Given the description of an element on the screen output the (x, y) to click on. 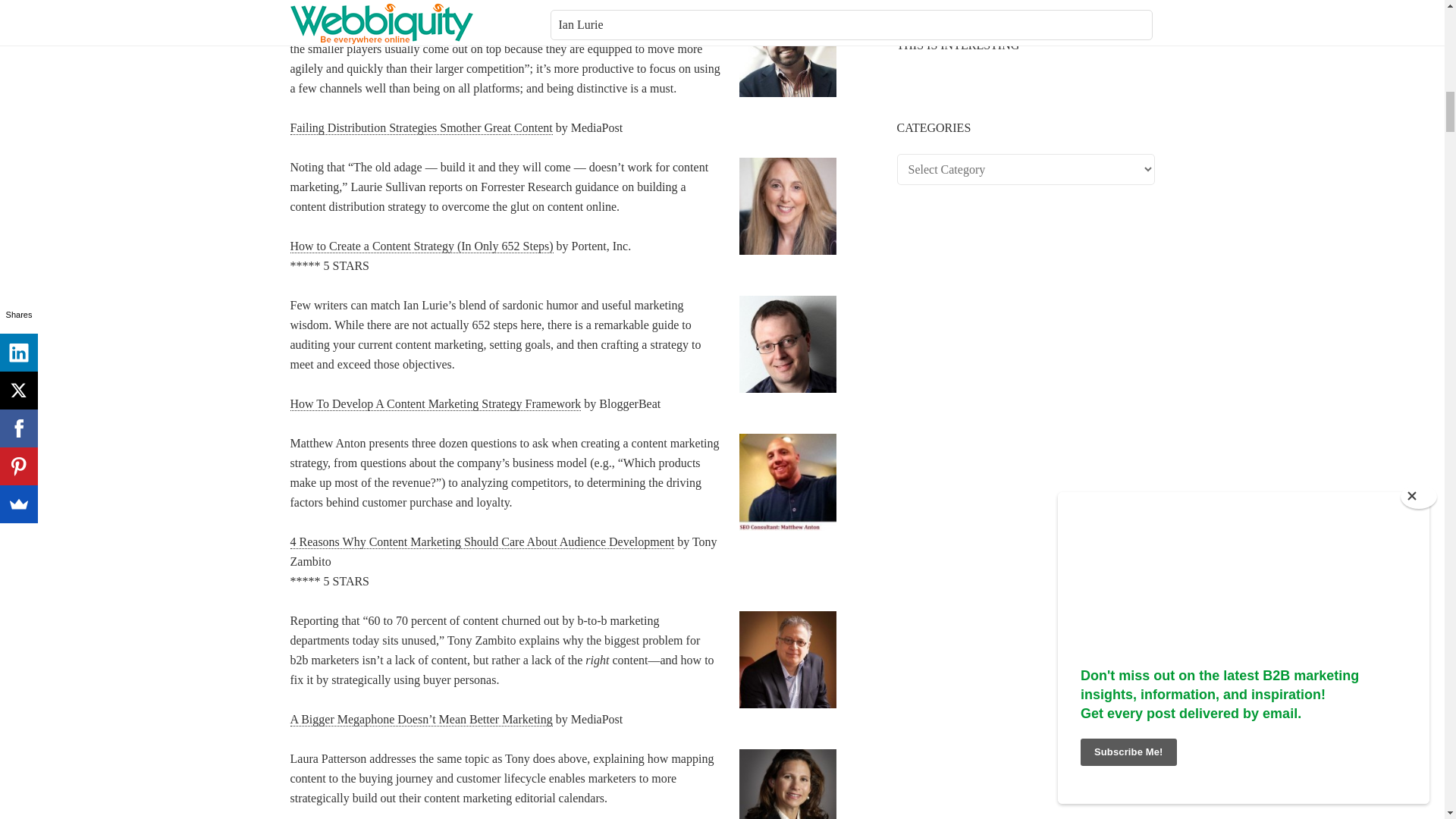
Failing Distribution Strategies Smother Great Content (420, 128)
How To Develop A Content Marketing Strategy Framework (434, 404)
